Given the description of an element on the screen output the (x, y) to click on. 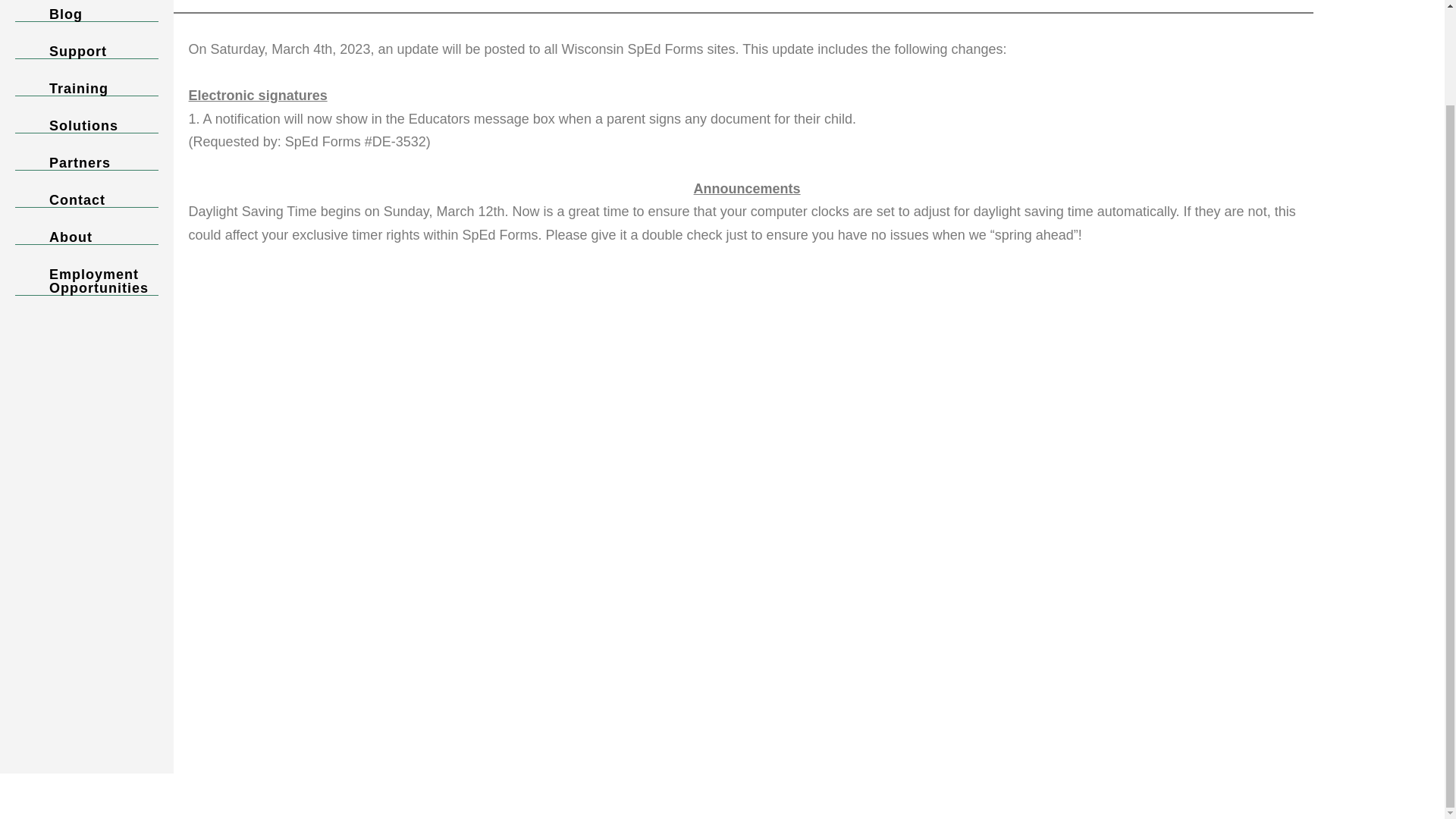
Training (86, 88)
About (86, 237)
Contact (86, 200)
Support (86, 51)
Blog (86, 14)
Partners (86, 163)
Solutions (86, 125)
Employment Opportunities (86, 281)
